Given the description of an element on the screen output the (x, y) to click on. 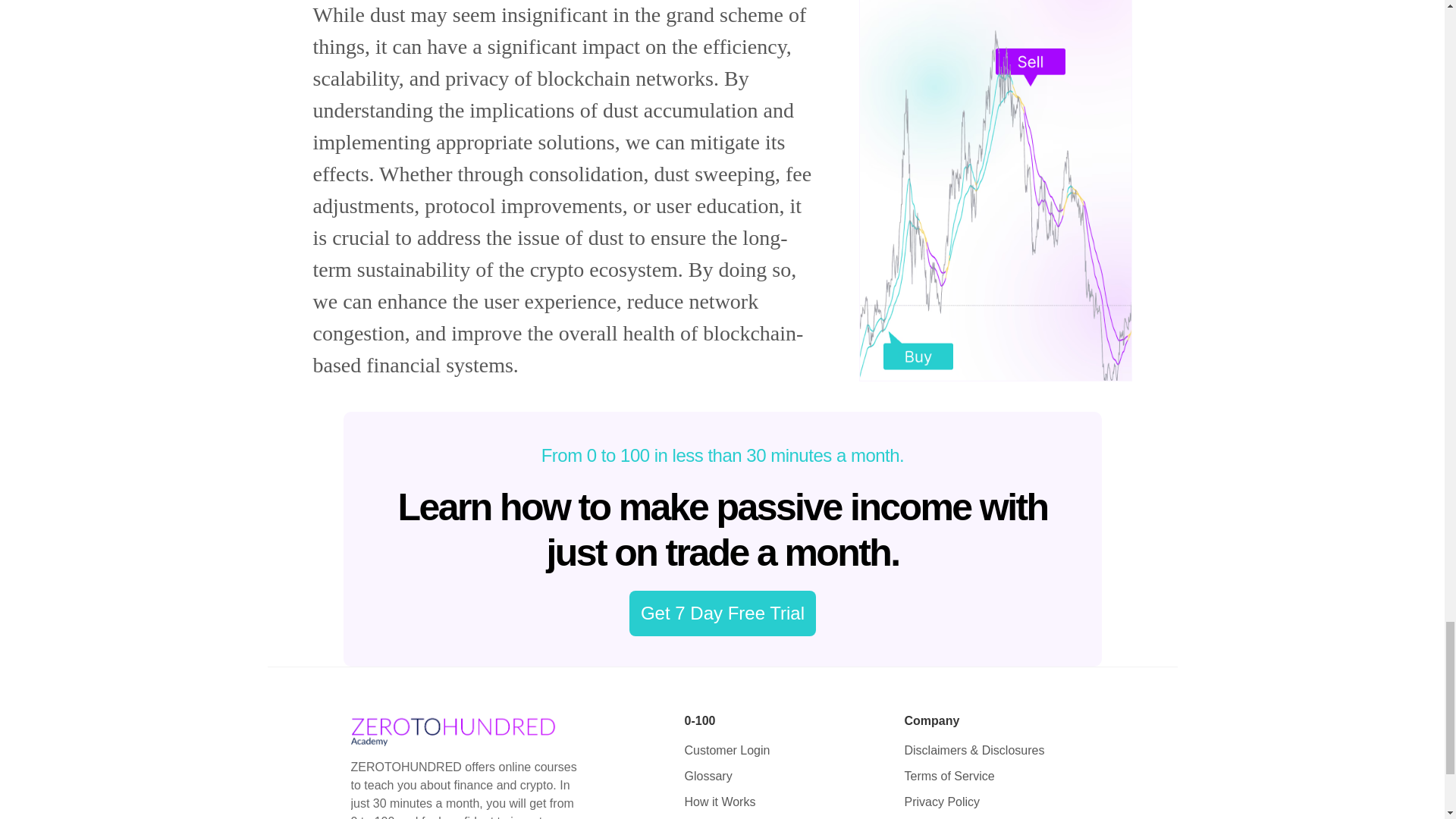
Glossary (708, 775)
Customer Login (727, 749)
Privacy Policy (941, 801)
Get 7 Day Free Trial (721, 613)
Terms of Service (949, 775)
How it Works (719, 801)
